Given the description of an element on the screen output the (x, y) to click on. 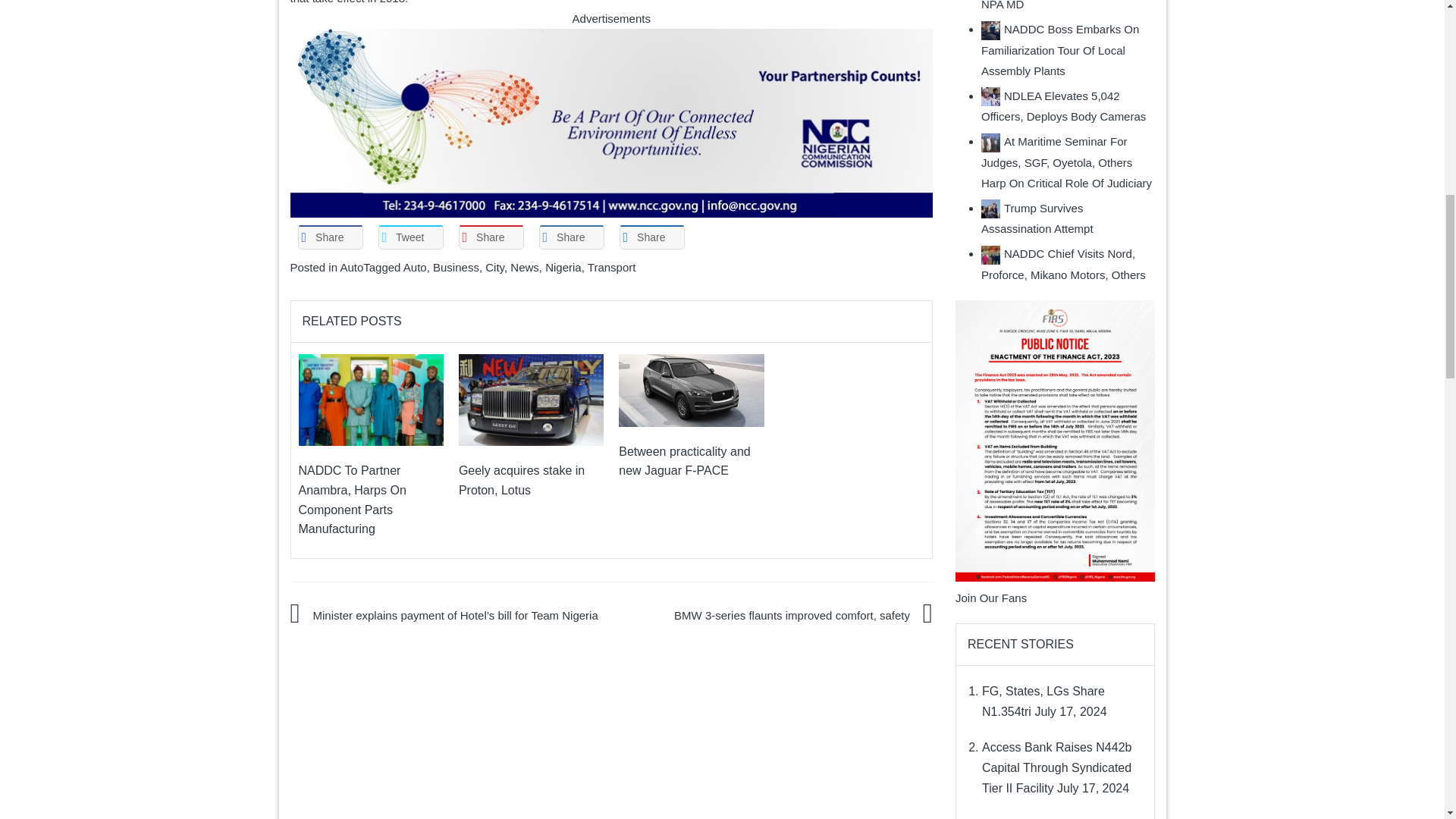
Between practicality and new Jaguar F-PACE (690, 389)
Share on Twitter (409, 237)
Share on Pinterest (490, 237)
Geely acquires stake in Proton, Lotus (521, 480)
Geely acquires stake in Proton, Lotus (531, 399)
Geely acquires stake in Proton, Lotus (531, 399)
Between practicality and new Jaguar F-PACE (690, 389)
Share on LinkedIn (571, 237)
Share on Facebook (329, 237)
Share on Digg (651, 237)
